Given the description of an element on the screen output the (x, y) to click on. 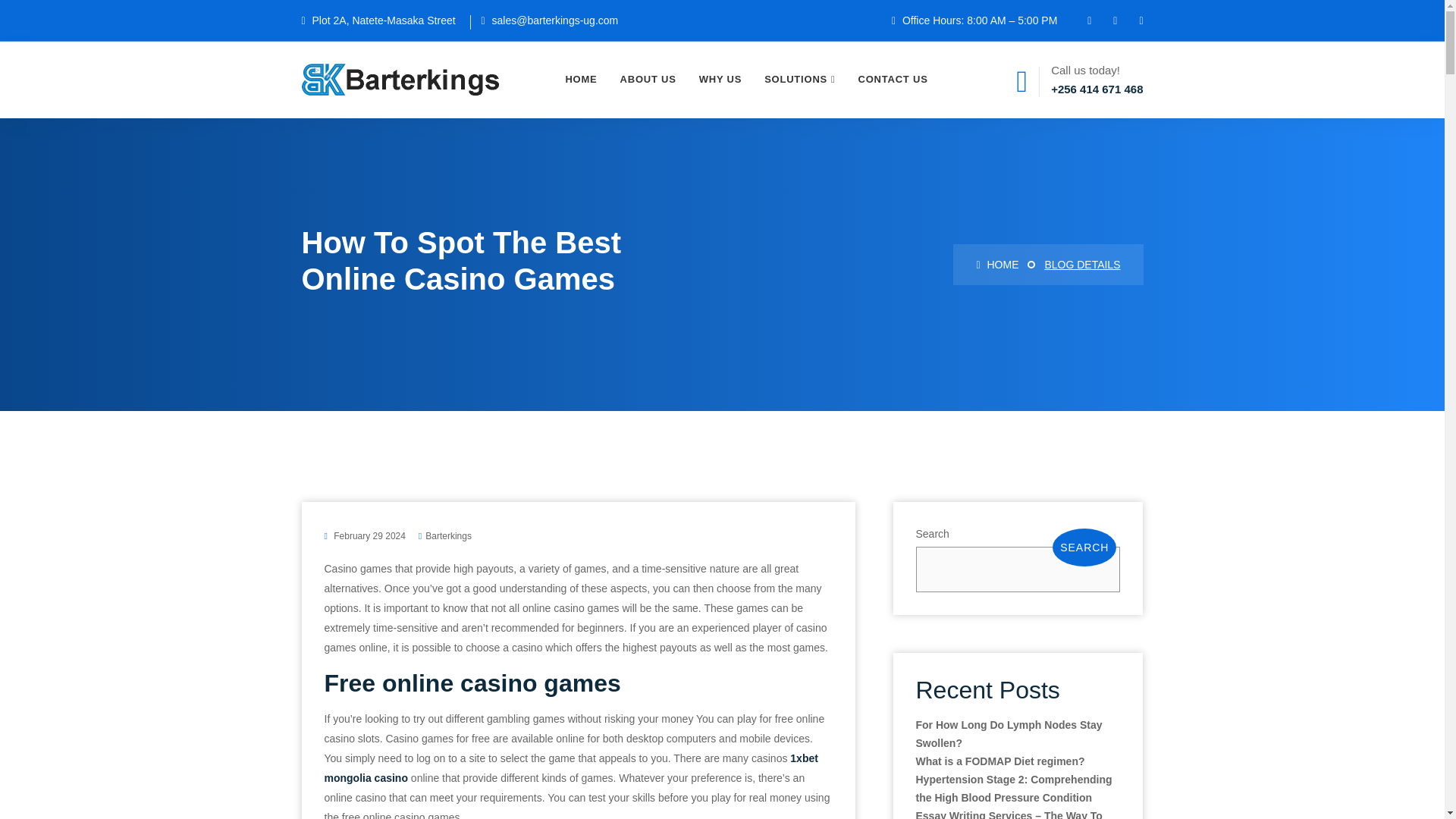
Barterkings (448, 535)
HOME (996, 264)
SOLUTIONS (798, 79)
For How Long Do Lymph Nodes Stay Swollen? (1008, 734)
1xbet mongolia casino (571, 767)
About Us (647, 79)
Solutions (798, 79)
SEARCH (1084, 547)
What is a FODMAP Diet regimen? (999, 761)
ABOUT US (647, 79)
CONTACT US (893, 79)
Contact Us (893, 79)
